Given the description of an element on the screen output the (x, y) to click on. 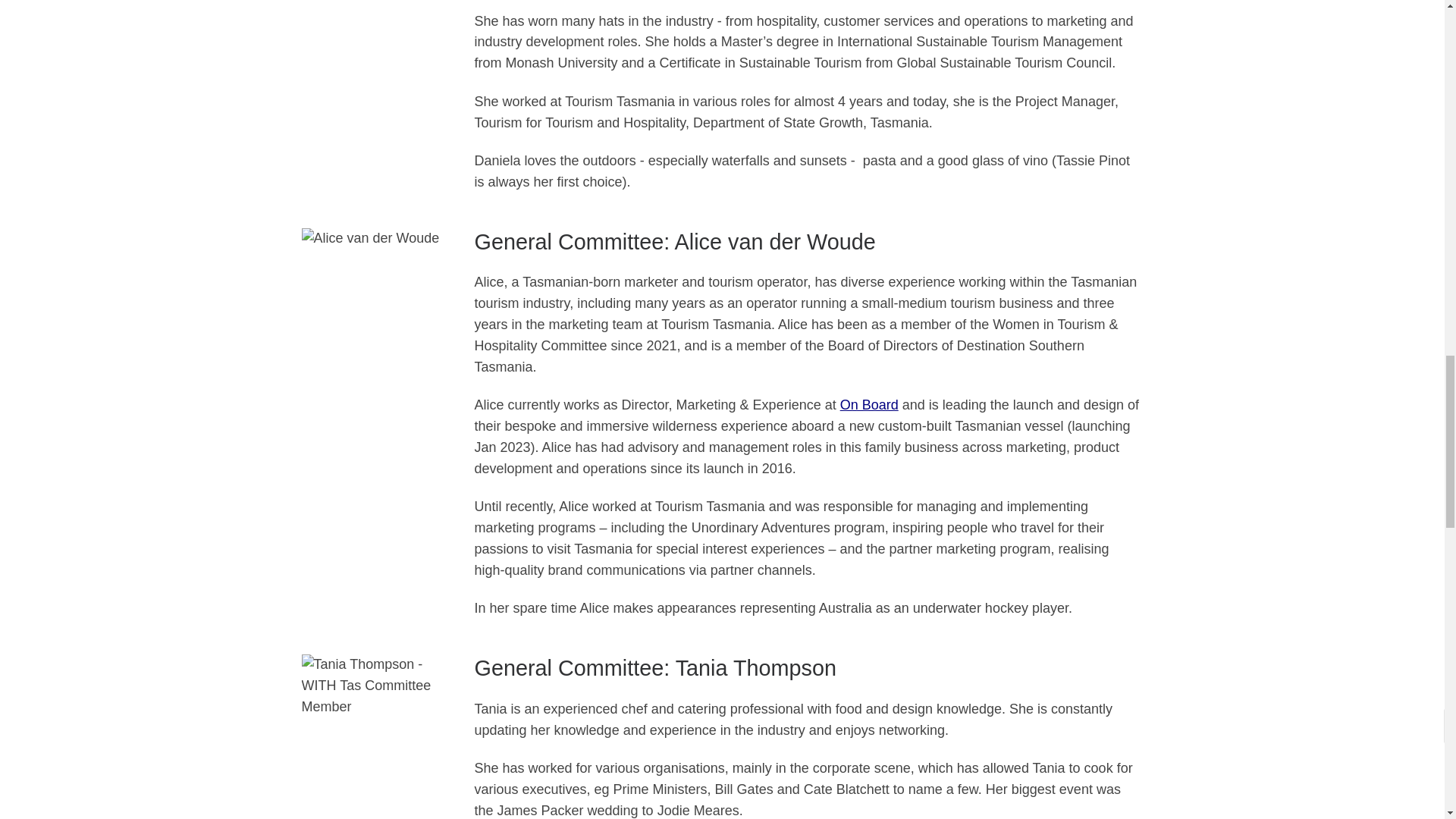
Daniela Ruiz (376, 7)
Alice van der Woude (376, 284)
Tania Thompson - WITH Tas Committee Member (376, 736)
